Given the description of an element on the screen output the (x, y) to click on. 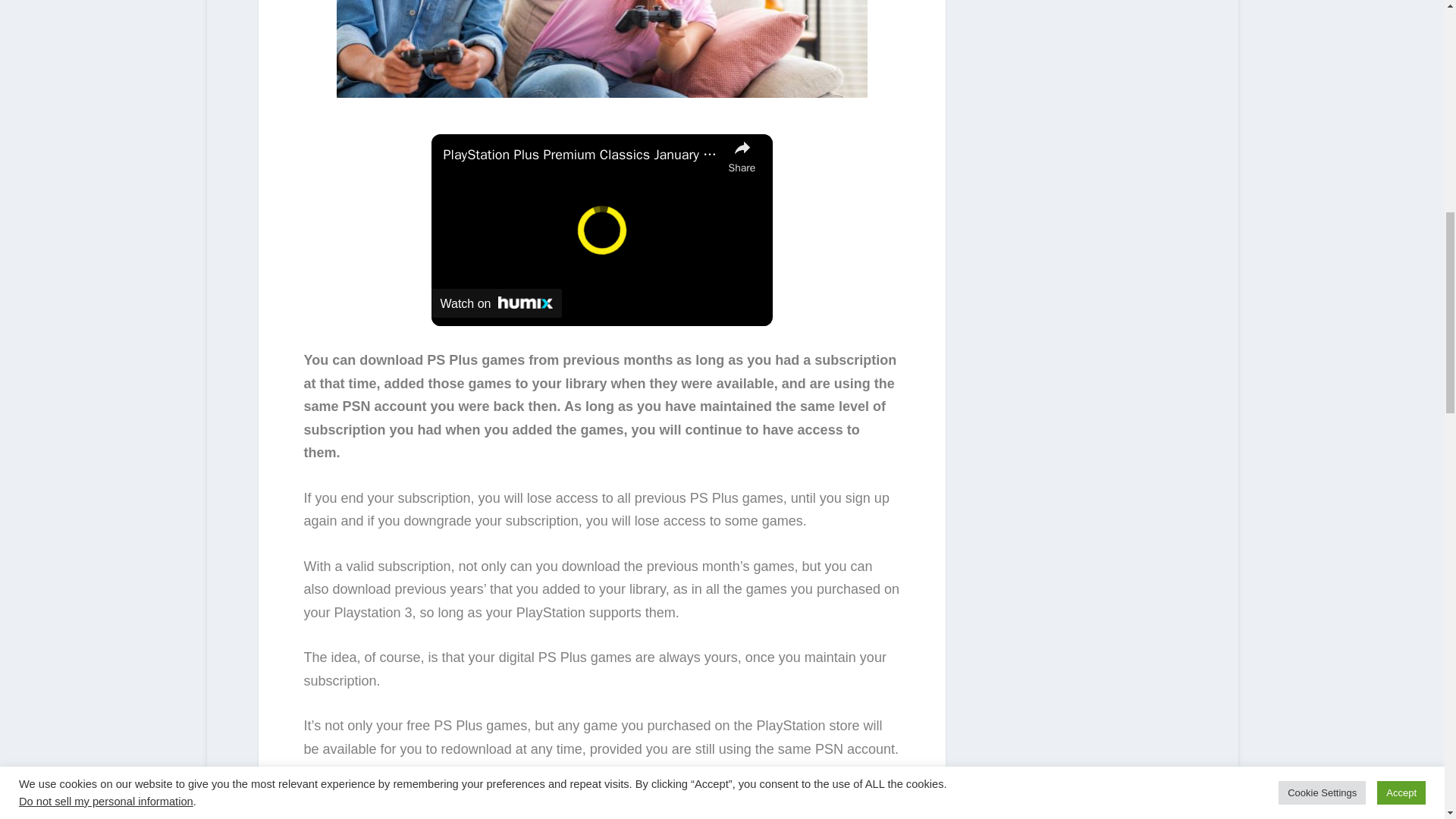
share (741, 154)
Watch on (495, 303)
Share (741, 154)
